Given the description of an element on the screen output the (x, y) to click on. 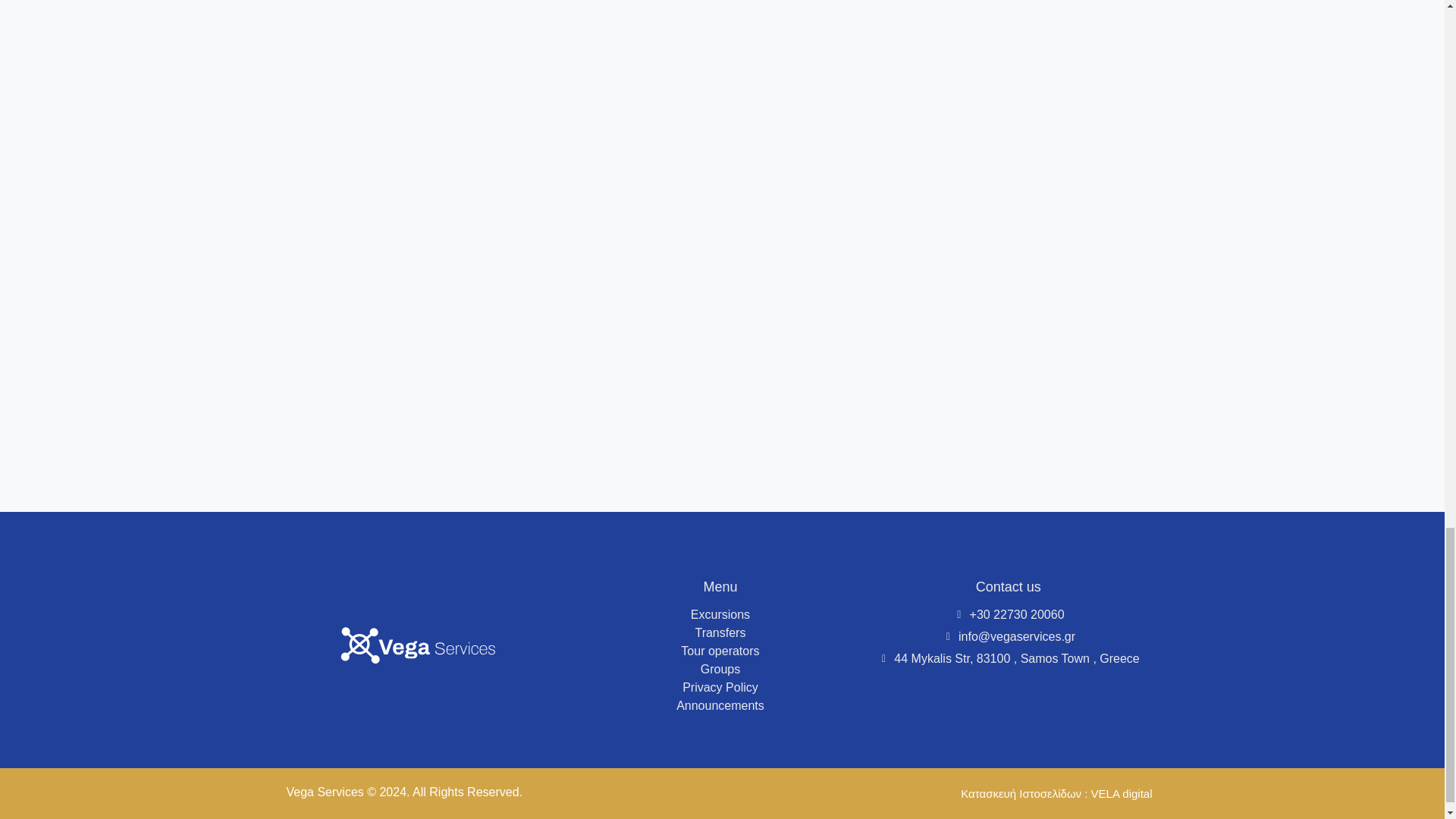
Transfers (719, 633)
Privacy Policy (719, 687)
Groups (719, 669)
Tour operators (719, 651)
44 Mykalis Str, 83100 , Samos Town , Greece (1008, 659)
Excursions (719, 615)
